Given the description of an element on the screen output the (x, y) to click on. 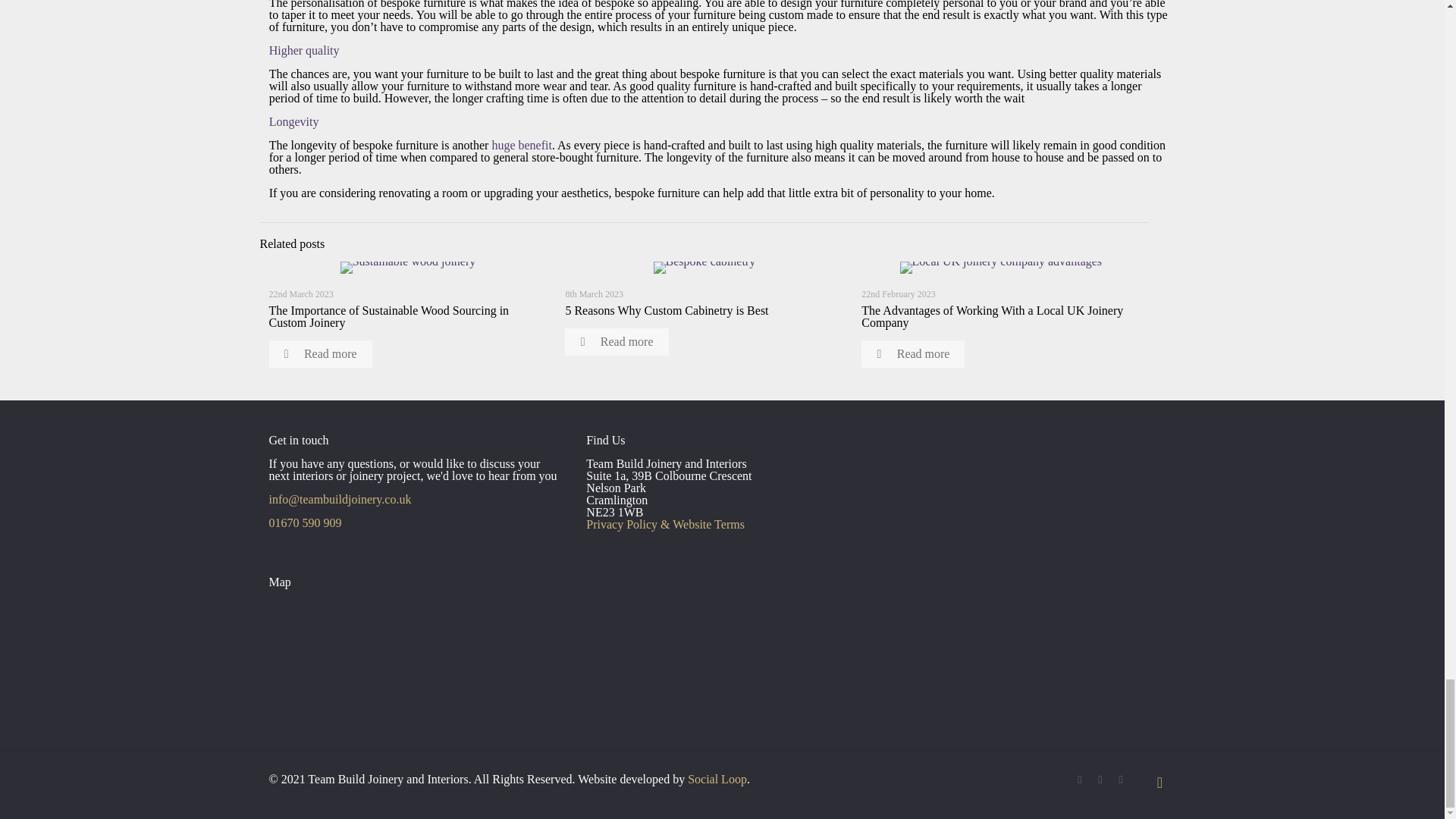
Twitter (1100, 779)
Instagram (1121, 779)
Facebook (1079, 779)
Read more (319, 353)
huge benefit (521, 144)
